Given the description of an element on the screen output the (x, y) to click on. 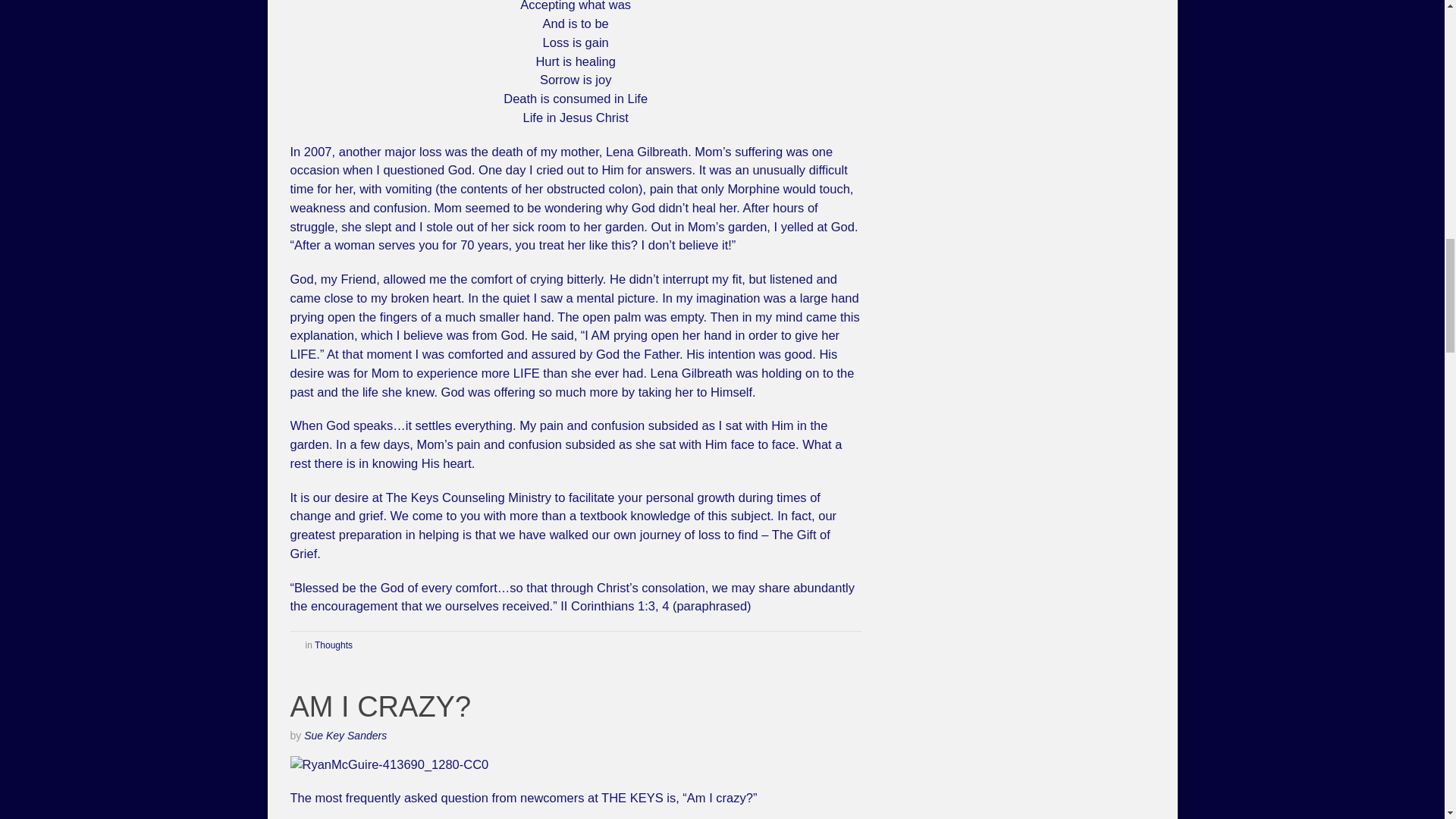
Thoughts (333, 644)
AM I CRAZY? (379, 706)
AM I CRAZY? (379, 706)
Sue Key Sanders (345, 735)
Posts by Sue Key Sanders (345, 735)
